Given the description of an element on the screen output the (x, y) to click on. 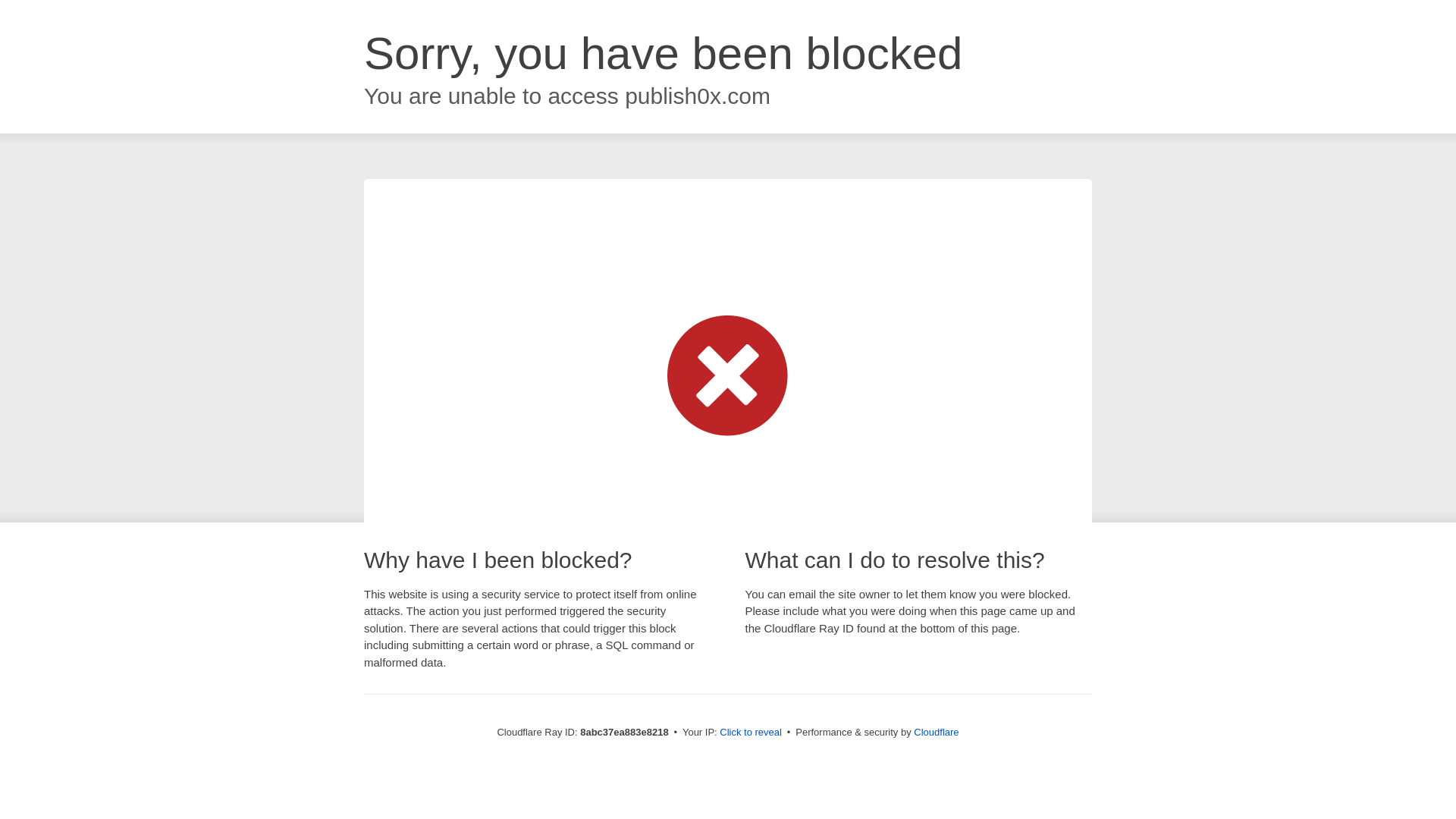
Click to reveal (750, 732)
Cloudflare (936, 731)
